Given the description of an element on the screen output the (x, y) to click on. 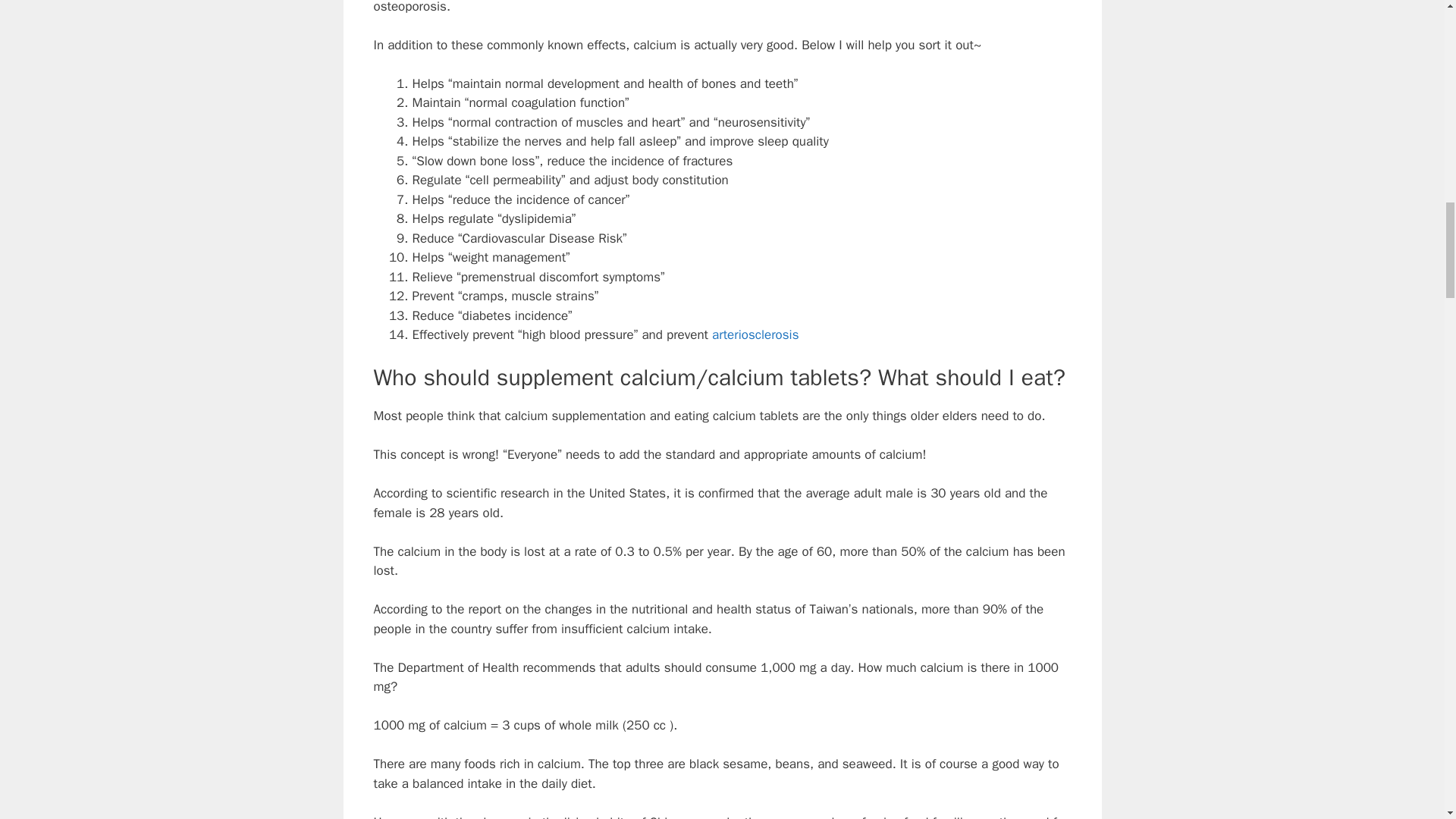
arteriosclerosis (754, 334)
